Given the description of an element on the screen output the (x, y) to click on. 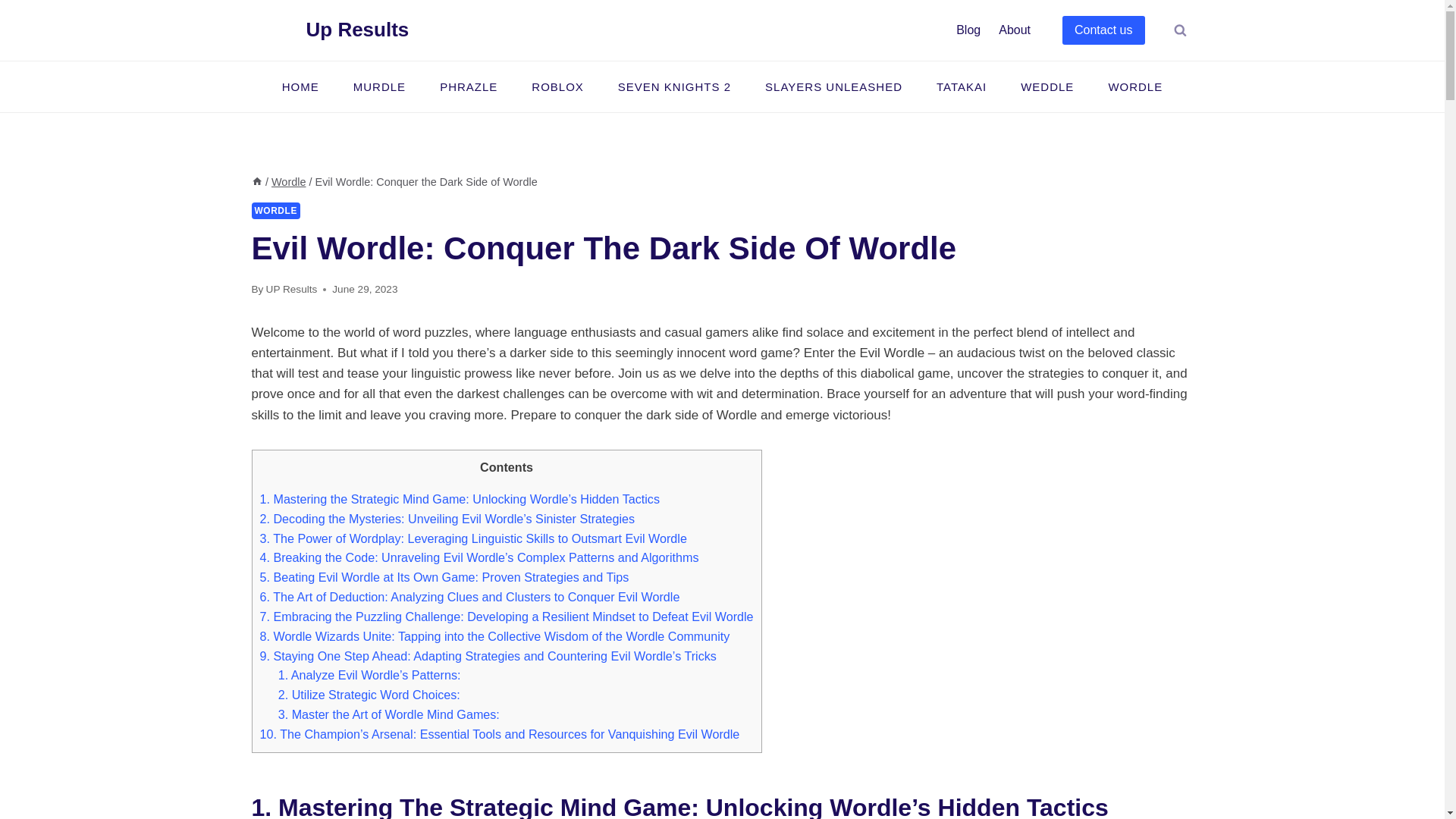
PHRAZLE (469, 86)
SEVEN KNIGHTS 2 (673, 86)
Up Results (330, 29)
Blog (968, 30)
WORDLE (1134, 86)
Wordle (287, 182)
SLAYERS UNLEASHED (834, 86)
WORDLE (275, 210)
About (1014, 30)
TATAKAI (960, 86)
ROBLOX (558, 86)
Contact us (1103, 30)
WEDDLE (1047, 86)
UP Results (291, 288)
2. Utilize Strategic Word Choices: (369, 694)
